Given the description of an element on the screen output the (x, y) to click on. 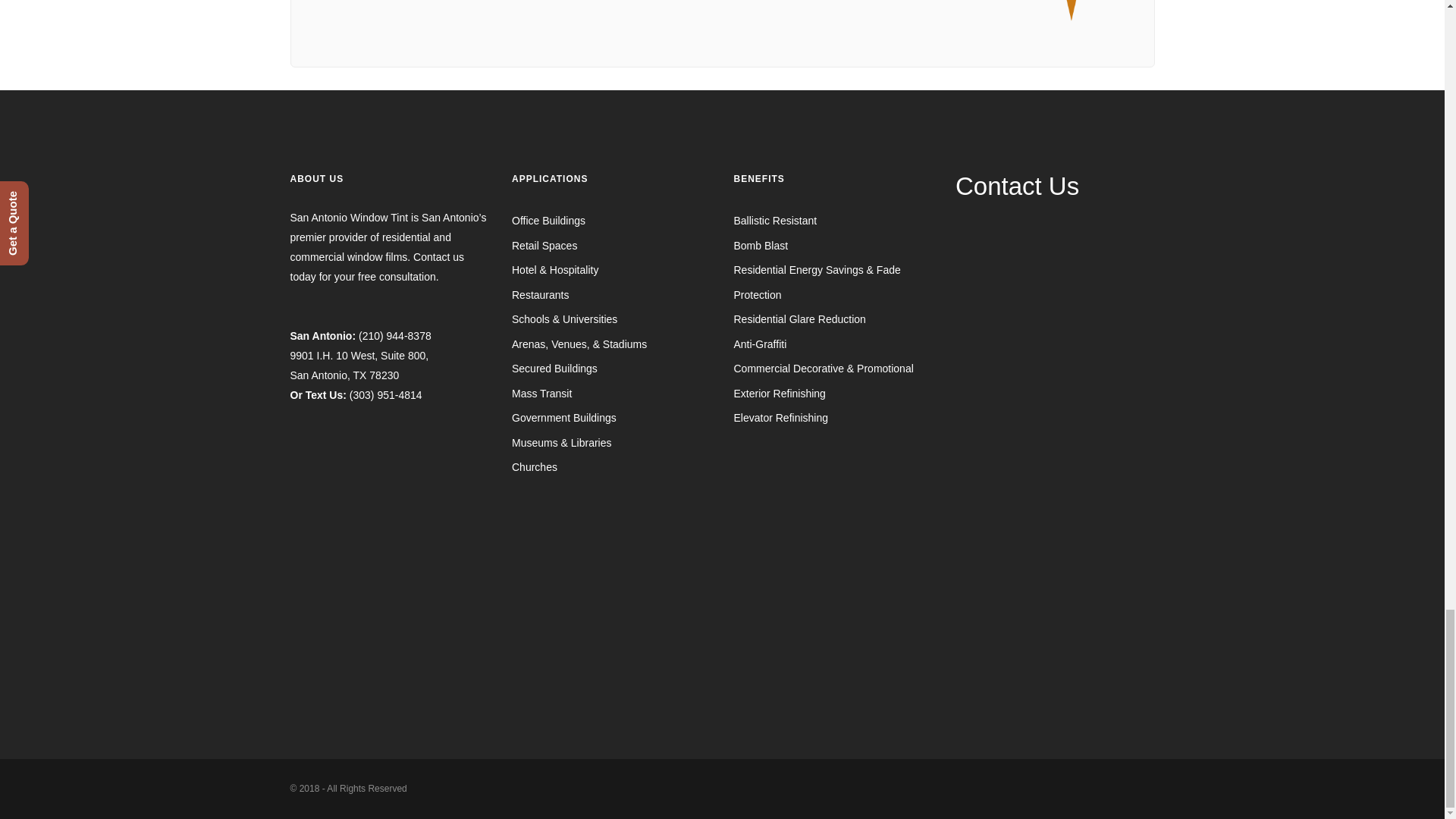
Churches Austin Window Tinting (534, 467)
Government Buildings San Antonio Window Tinting (563, 417)
San Antonio Restaurant Window Tinting (540, 295)
Ballistic Resistance Film for San Antonio Window Tint (774, 220)
Retail Austin Window Tinting (544, 245)
Mass Transit Austin Window Tinting (542, 393)
Bomb Blast Film for San Antonio Window Tint (761, 245)
San Antonio Office Window Tinting (548, 220)
Secured Building San Antonio Window Tinting (554, 368)
